Given the description of an element on the screen output the (x, y) to click on. 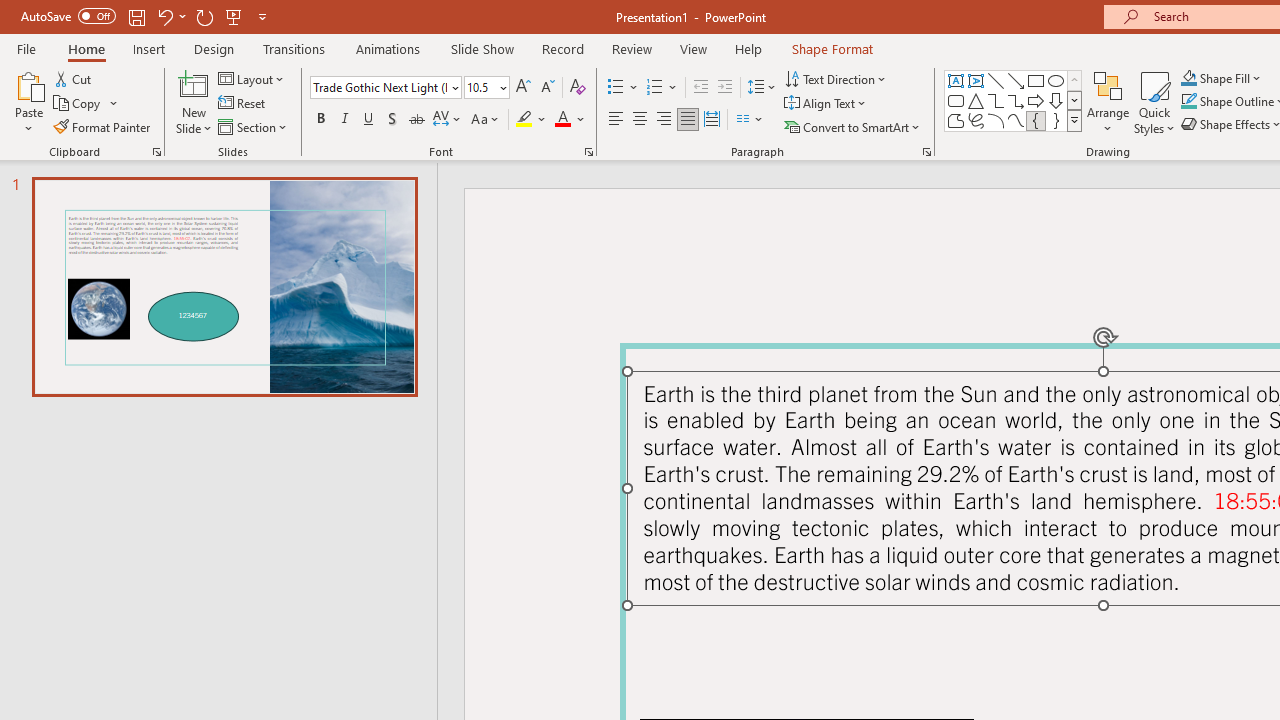
Character Spacing (447, 119)
AutomationID: ShapesInsertGallery (1014, 100)
Strikethrough (416, 119)
Row Down (1074, 100)
Shape Format (832, 48)
Bold (320, 119)
Align Text (826, 103)
Isosceles Triangle (975, 100)
Open (502, 87)
Font Size (480, 87)
Copy (78, 103)
Row up (1074, 79)
Format Painter (103, 126)
